Given the description of an element on the screen output the (x, y) to click on. 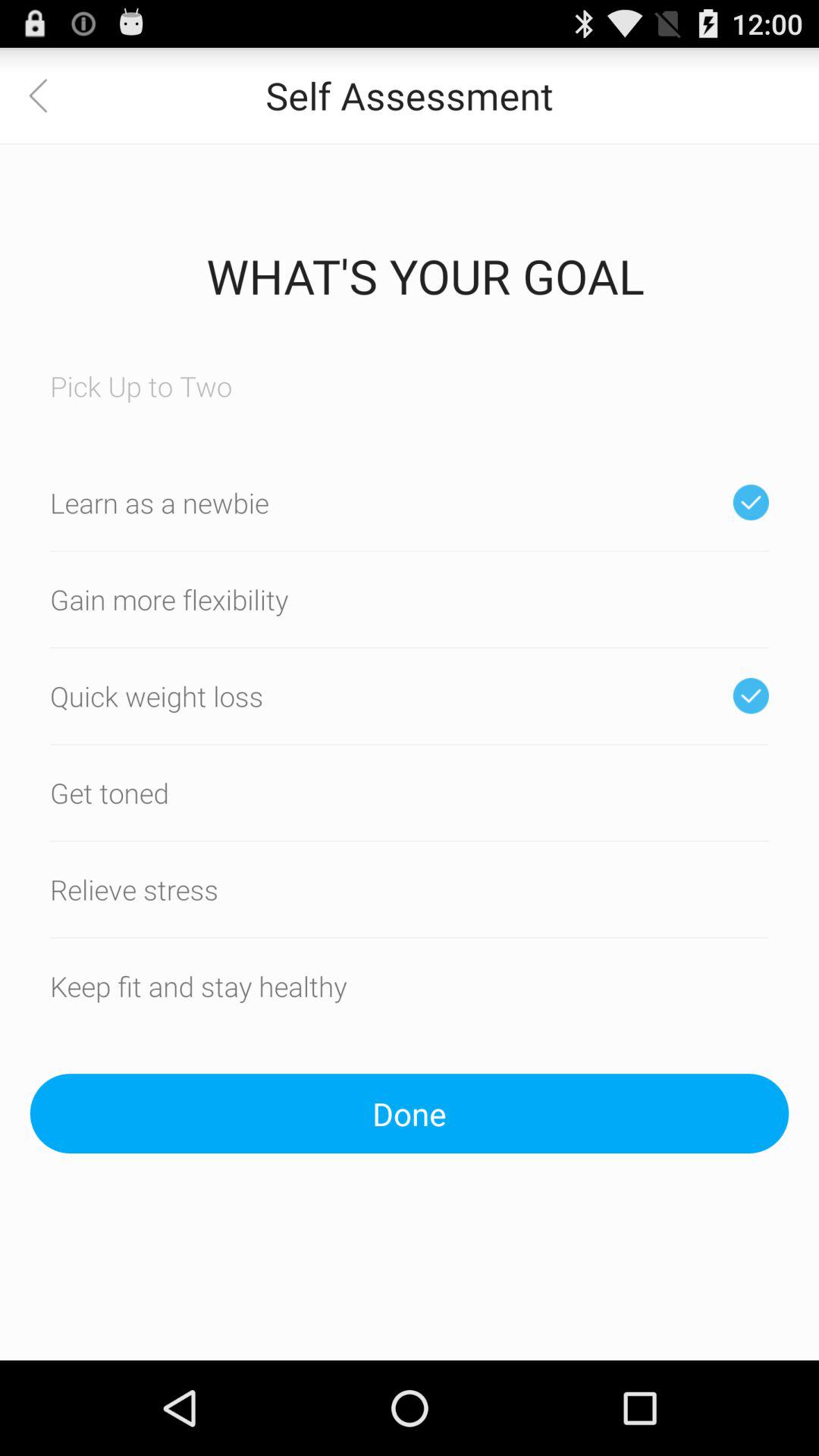
turn on done button (409, 1113)
